Given the description of an element on the screen output the (x, y) to click on. 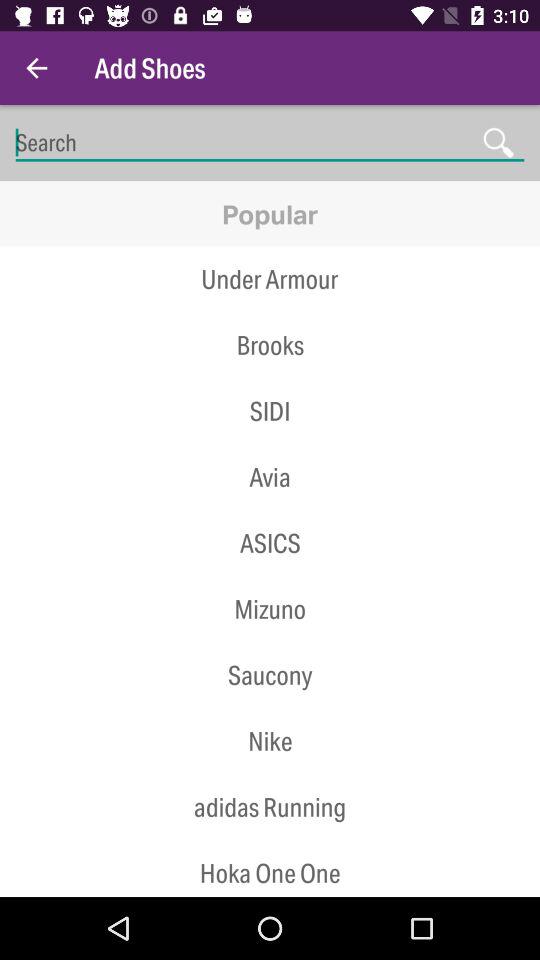
search bar (269, 142)
